Given the description of an element on the screen output the (x, y) to click on. 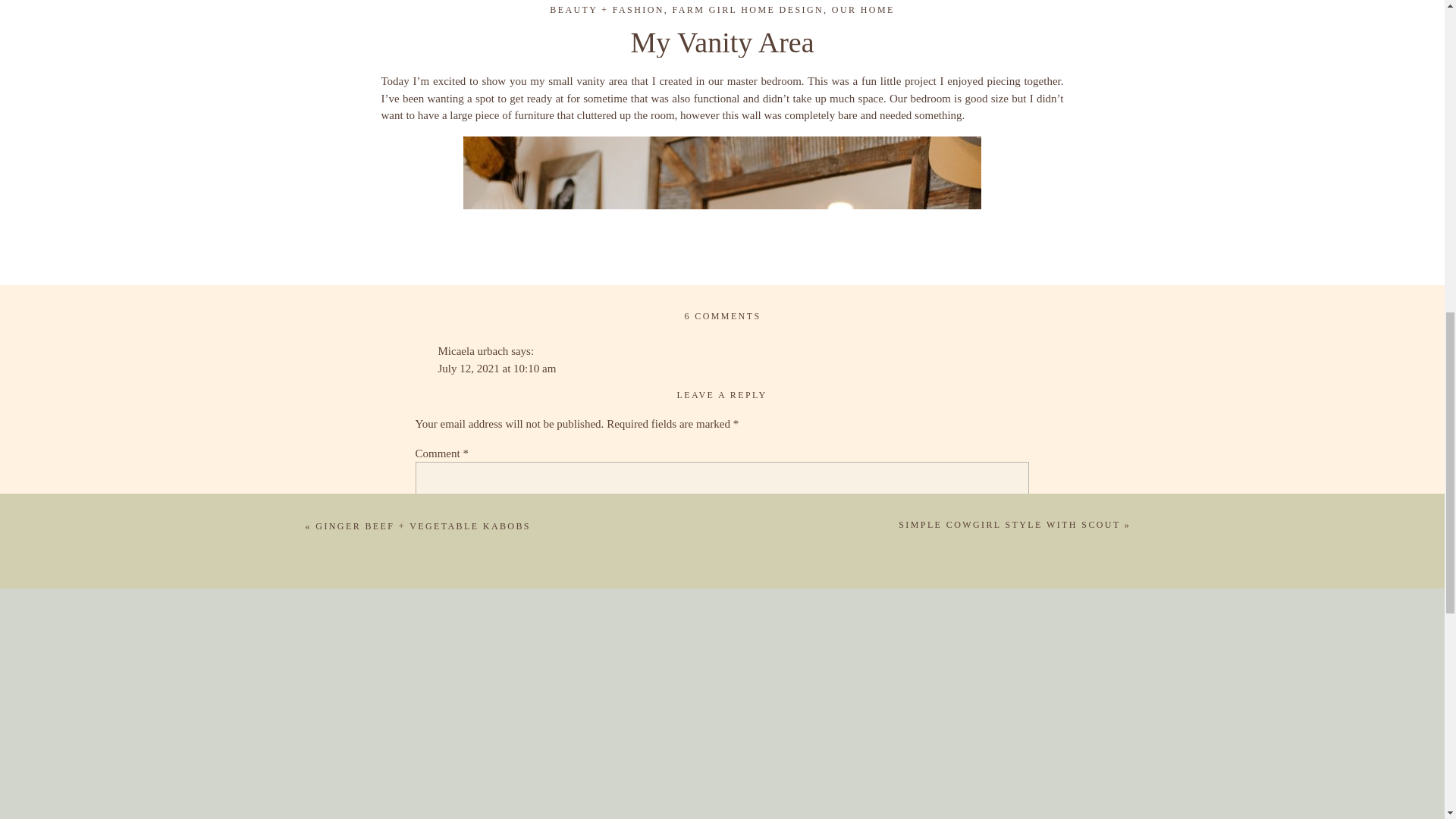
Reply (451, 421)
OUR HOME (863, 9)
FARM GIRL HOME DESIGN (748, 9)
July 12, 2021 at 10:10 am (497, 368)
Post Comment (476, 784)
